Given the description of an element on the screen output the (x, y) to click on. 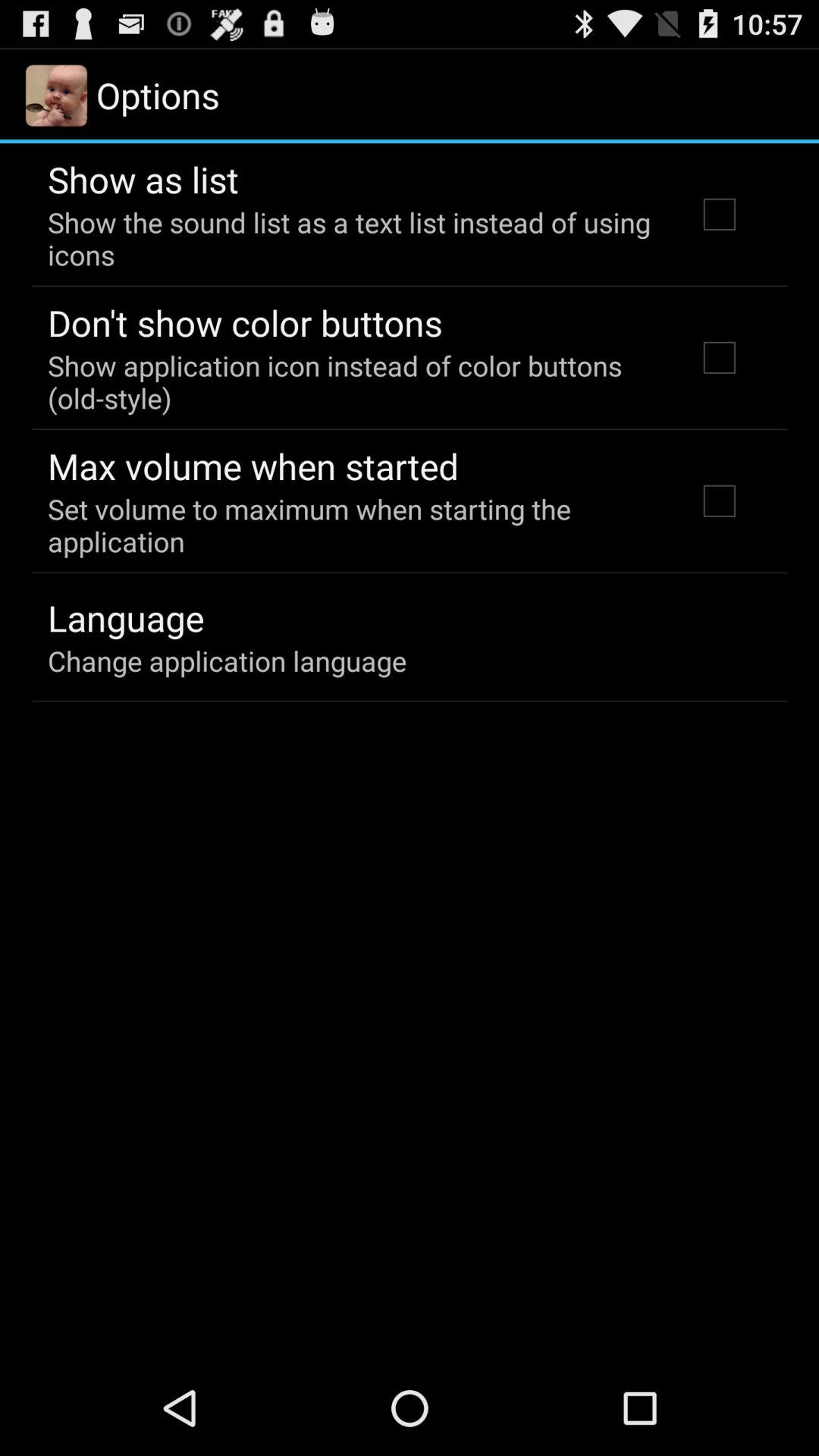
select icon above max volume when item (351, 381)
